Given the description of an element on the screen output the (x, y) to click on. 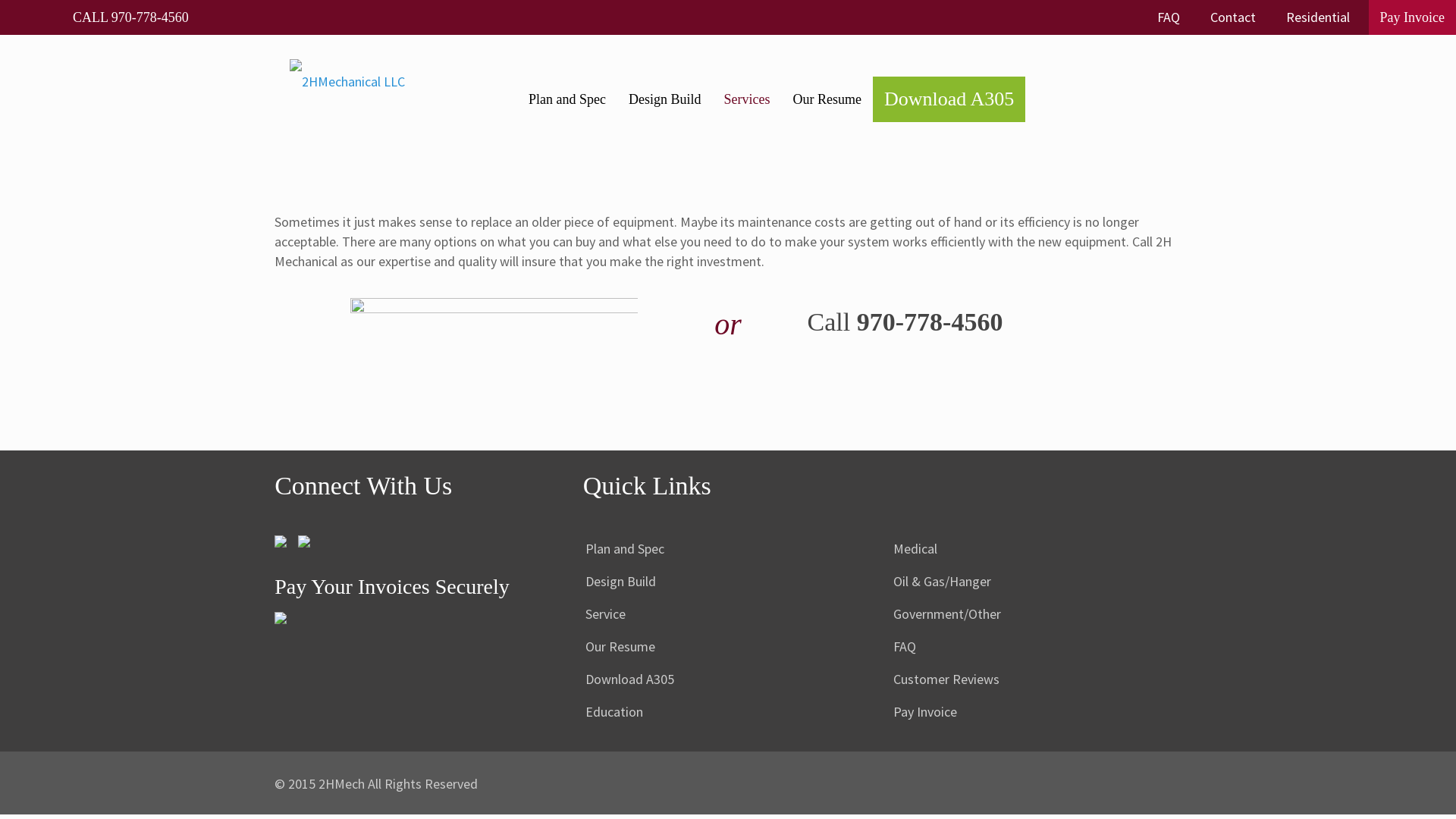
2HMechanical LLC Element type: hover (346, 104)
Pay Invoice Element type: text (1412, 17)
Design Build Element type: text (664, 99)
Our Resume Element type: text (727, 646)
Contact Element type: text (1232, 16)
Pay Invoice Element type: text (1035, 712)
Download A305 Element type: text (948, 99)
Plan and Spec Element type: text (727, 549)
CALL 970-778-4560 Element type: text (130, 17)
Our Resume Element type: text (826, 99)
Medical Element type: text (1035, 549)
FAQ Element type: text (1035, 646)
Oil & Gas/Hanger Element type: text (1035, 581)
Government/Other Element type: text (1035, 614)
Plan and Spec Element type: text (567, 99)
Customer Reviews Element type: text (1035, 679)
Education Element type: text (727, 712)
Services Element type: text (746, 99)
Download A305 Element type: text (727, 679)
Design Build Element type: text (727, 581)
Service Element type: text (727, 614)
Residential Element type: text (1317, 16)
FAQ Element type: text (1168, 16)
